Given the description of an element on the screen output the (x, y) to click on. 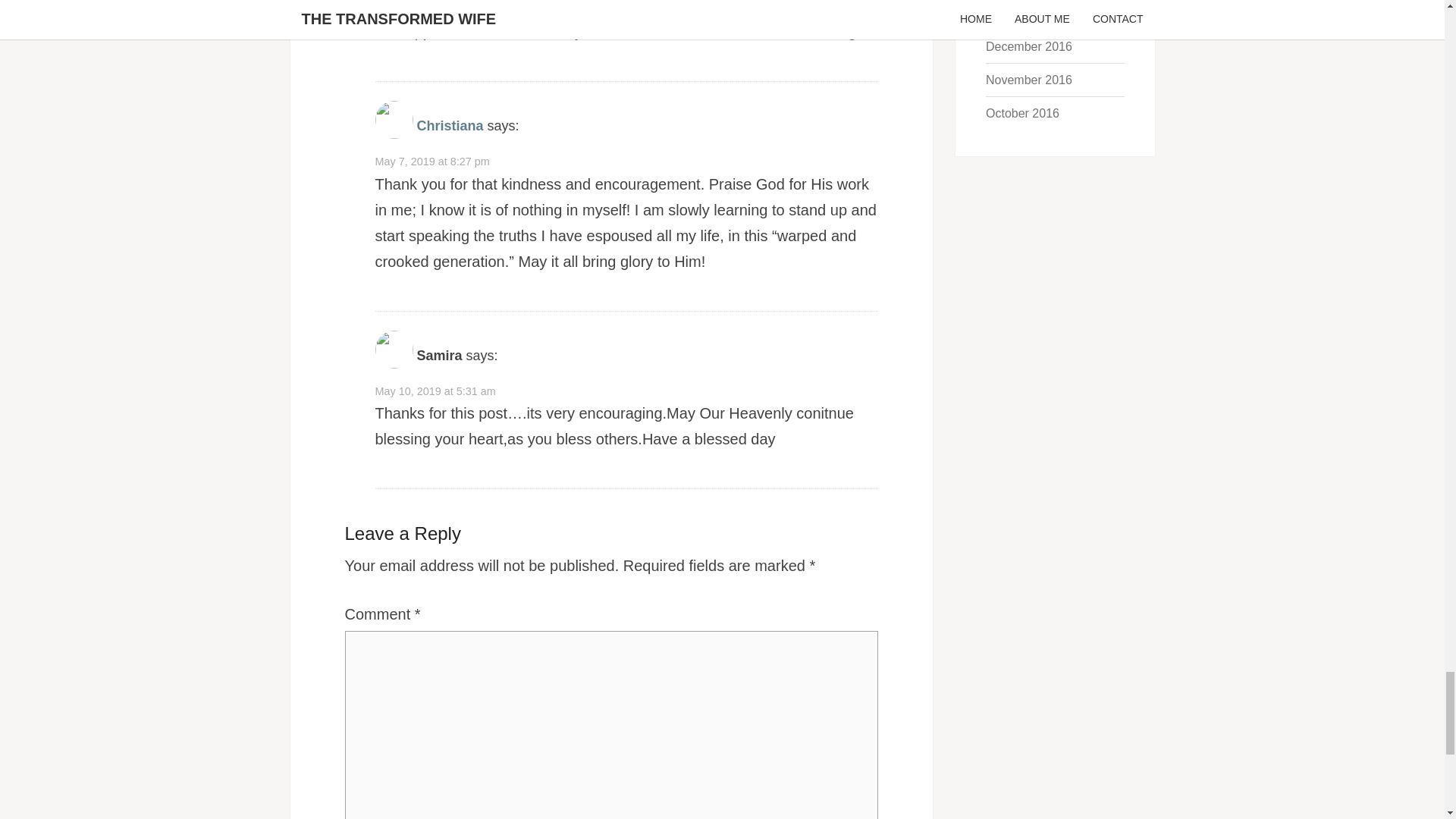
May 7, 2019 at 8:27 pm (431, 161)
Christiana (449, 125)
May 10, 2019 at 5:31 am (434, 390)
